Given the description of an element on the screen output the (x, y) to click on. 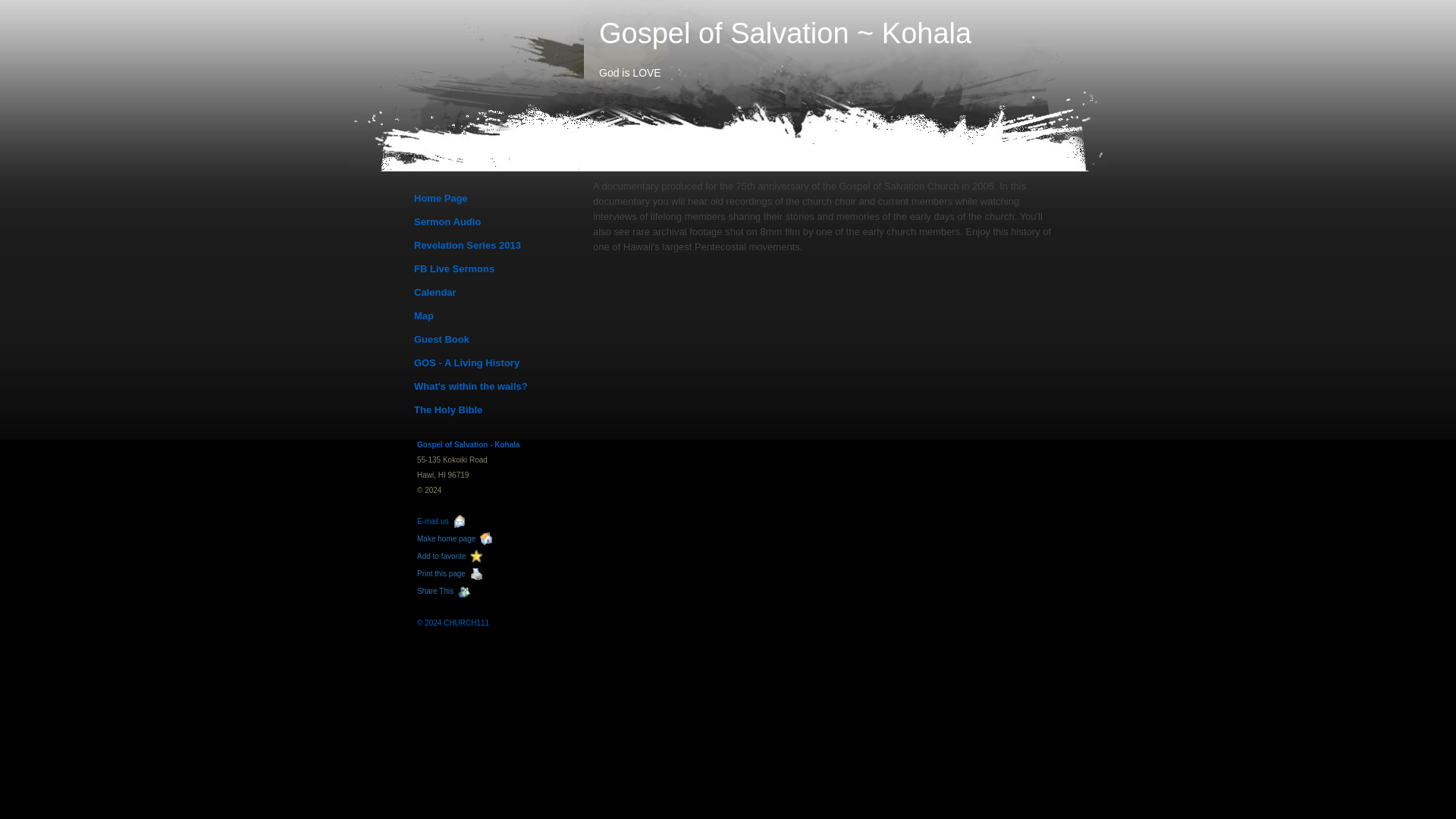
What's within the walls? (492, 386)
Add this page to my favorites (451, 556)
Gospel of Salvation - Kohala (467, 444)
Add to favorite (451, 556)
Sermon Audio (492, 221)
Map (492, 315)
Click to Share (446, 591)
FB Live Sermons (492, 268)
Revelation Series 2013 (492, 245)
GOS - A Living History (492, 363)
